Given the description of an element on the screen output the (x, y) to click on. 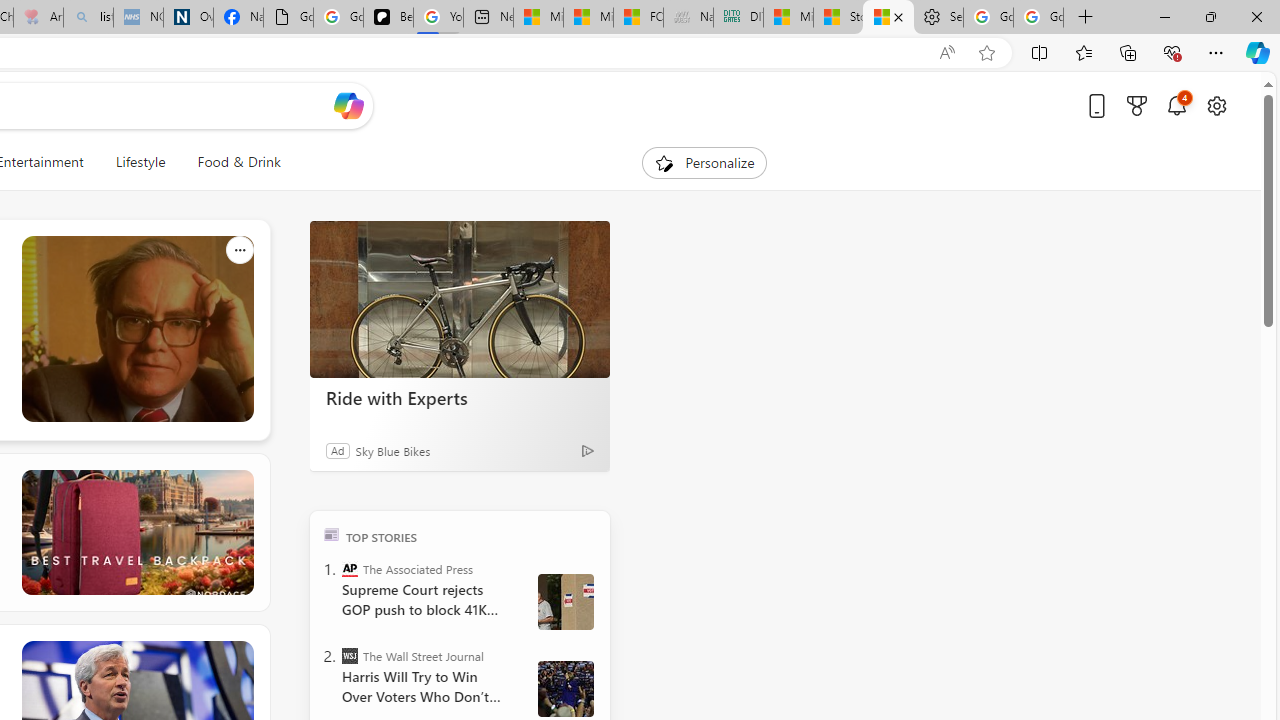
Ad (338, 450)
The Associated Press (349, 568)
Stocks - MSN (888, 17)
Microsoft rewards (1137, 105)
Sky Blue Bikes (392, 450)
NCL Adult Asthma Inhaler Choice Guideline - Sleeping (137, 17)
Open Copilot (347, 105)
Open Copilot (347, 105)
